Given the description of an element on the screen output the (x, y) to click on. 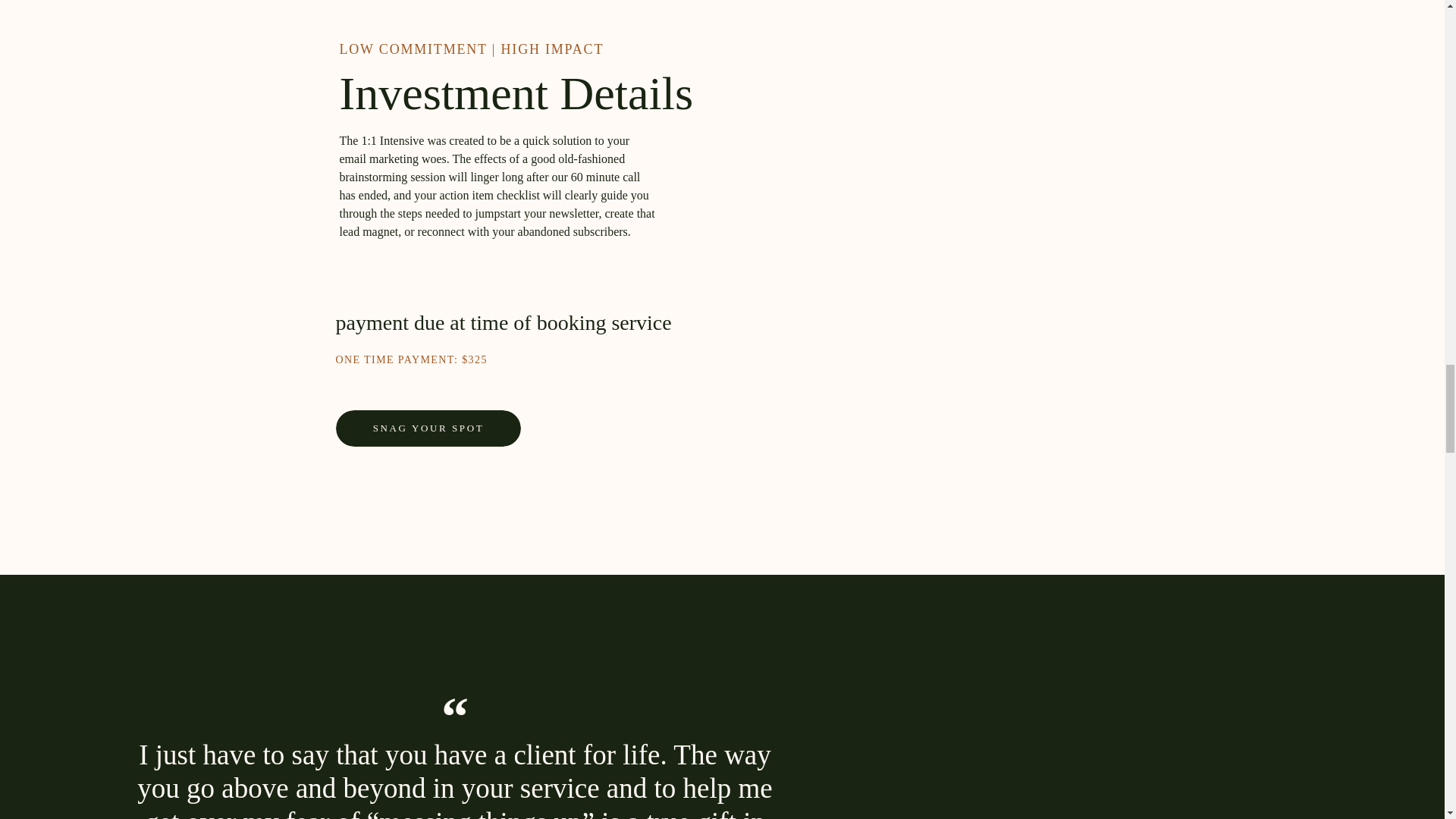
SNAG YOUR SPOT (428, 434)
